Given the description of an element on the screen output the (x, y) to click on. 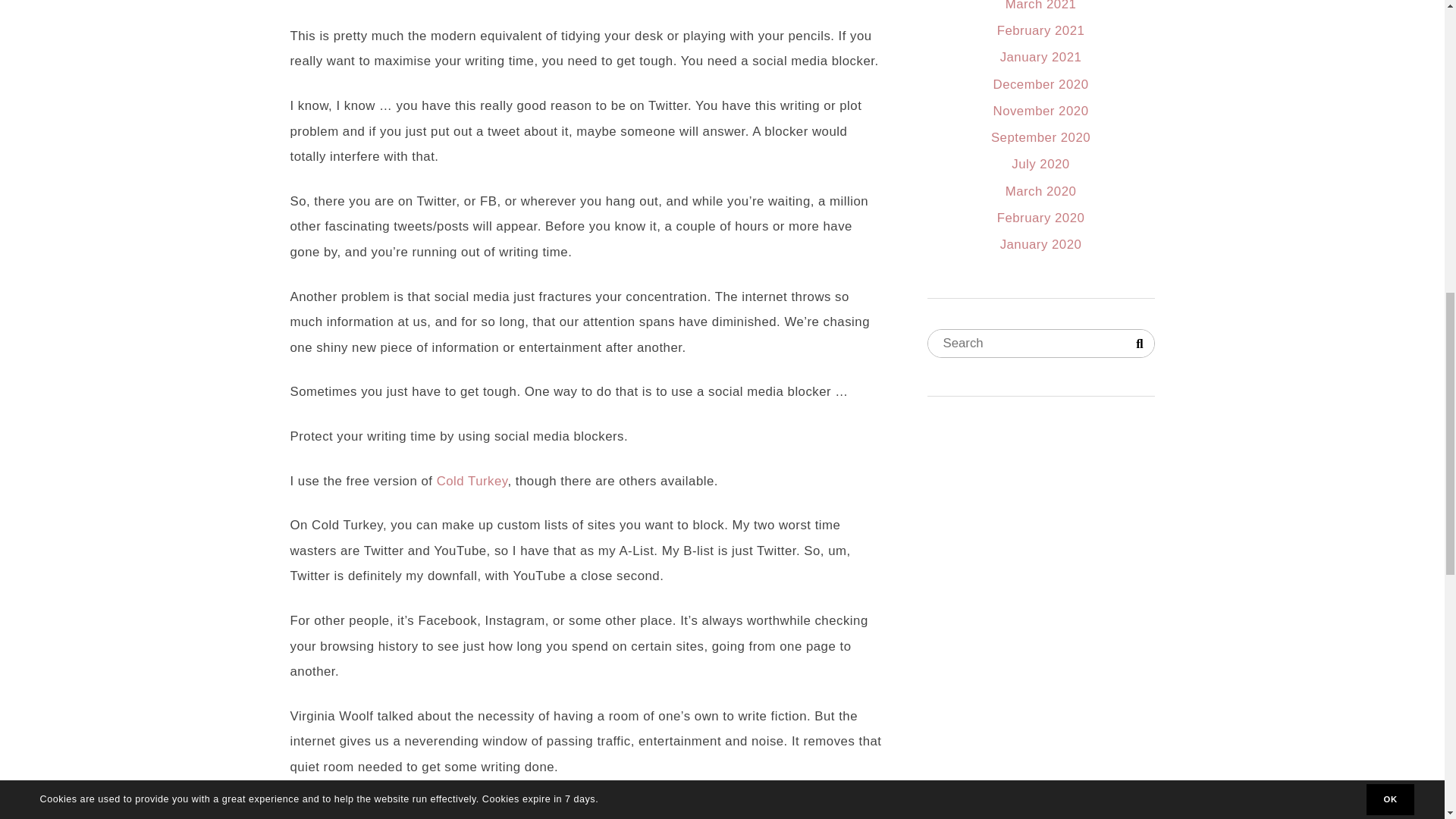
Cold Turkey (472, 481)
